Given the description of an element on the screen output the (x, y) to click on. 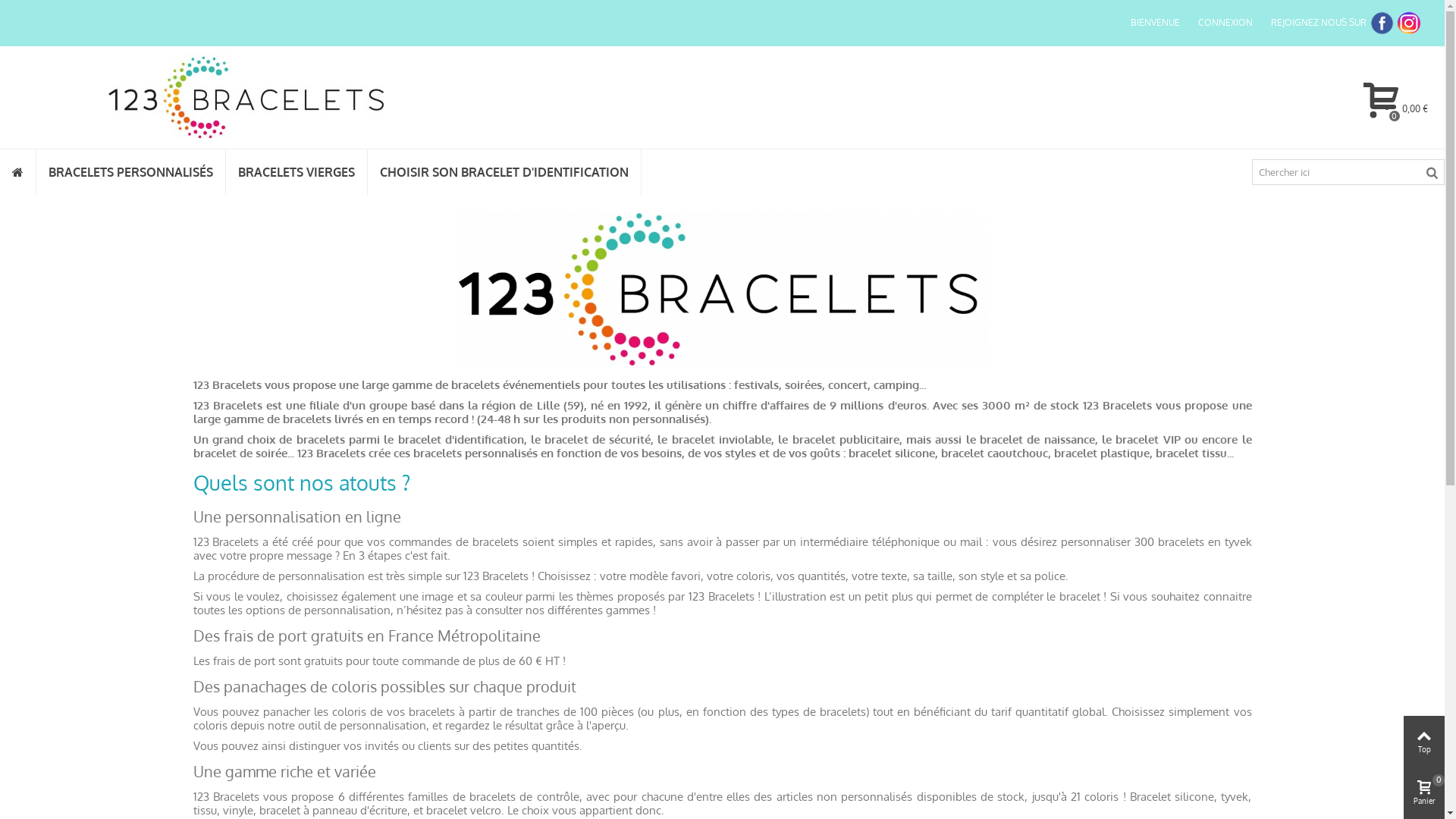
Top Element type: text (1423, 741)
Facebook Element type: hover (1381, 22)
CONNEXION Element type: text (1225, 22)
123 Bracelets Element type: hover (245, 96)
CHOISIR SON BRACELET D'IDENTIFICATION Element type: text (503, 171)
BRACELETS VIERGES Element type: text (296, 171)
Instagram Element type: hover (1408, 22)
